Given the description of an element on the screen output the (x, y) to click on. 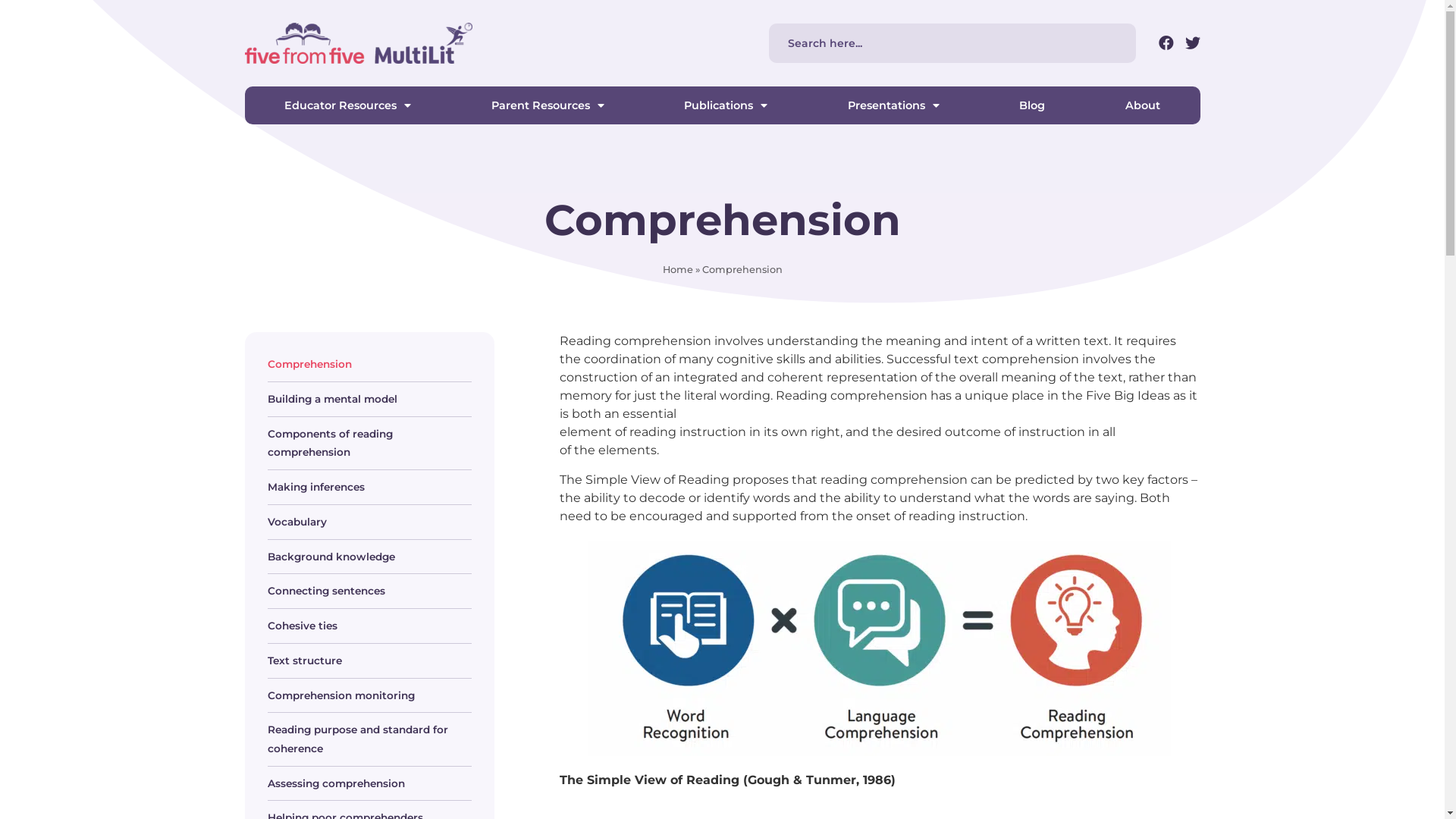
Parent Resources Element type: text (547, 105)
Making inferences Element type: text (368, 487)
Components of reading comprehension Element type: text (368, 443)
Educator Resources Element type: text (347, 105)
Text structure Element type: text (368, 660)
Connecting sentences Element type: text (368, 591)
Vocabulary Element type: text (368, 522)
Cohesive ties Element type: text (368, 625)
Comprehension monitoring Element type: text (368, 695)
Blog Element type: text (1032, 105)
Reading purpose and standard for coherence Element type: text (368, 738)
Home Element type: text (677, 269)
Publications Element type: text (726, 105)
Presentations Element type: text (893, 105)
Assessing comprehension Element type: text (368, 783)
Comprehension Element type: text (368, 364)
Background knowledge Element type: text (368, 556)
Building a mental model Element type: text (368, 399)
About Element type: text (1142, 105)
